Given the description of an element on the screen output the (x, y) to click on. 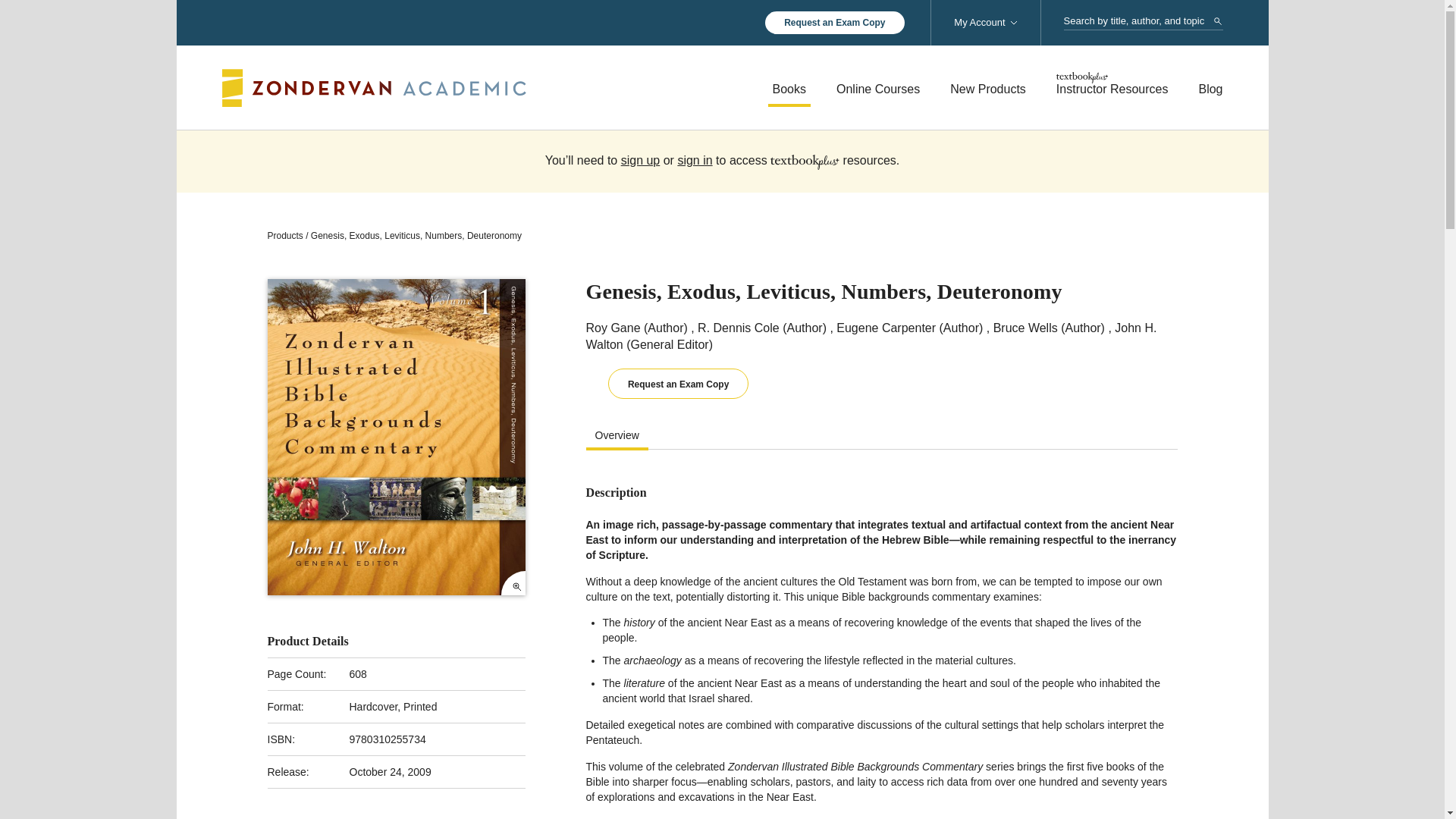
Online Courses (877, 89)
Zondervan (373, 86)
Request an Exam Copy (834, 22)
Books (789, 89)
Request an Exam Copy (834, 22)
Books (789, 89)
Zondervan Academic (373, 86)
Search (1217, 20)
